Given the description of an element on the screen output the (x, y) to click on. 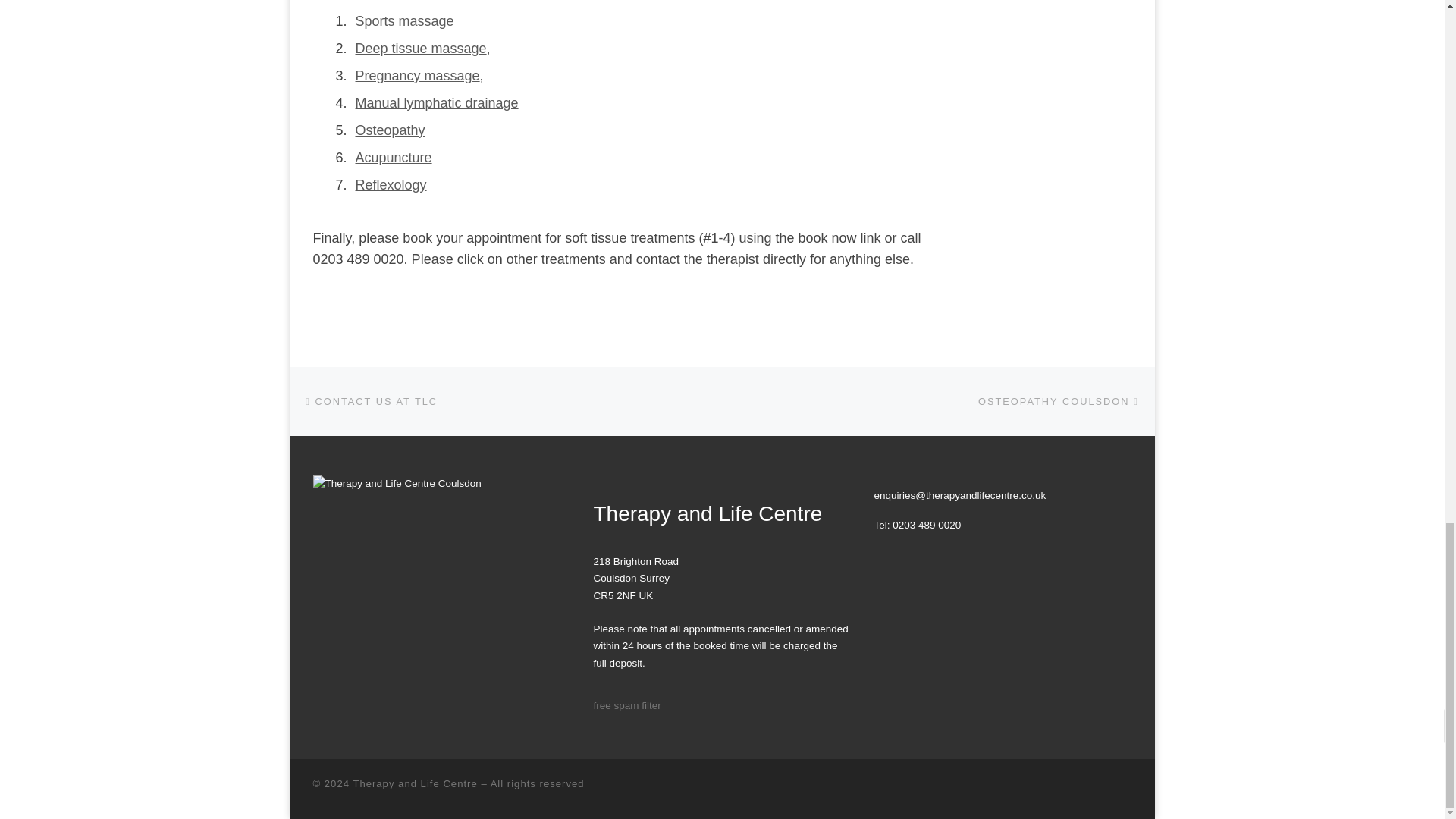
Therapy and Life Centre (414, 783)
